Given the description of an element on the screen output the (x, y) to click on. 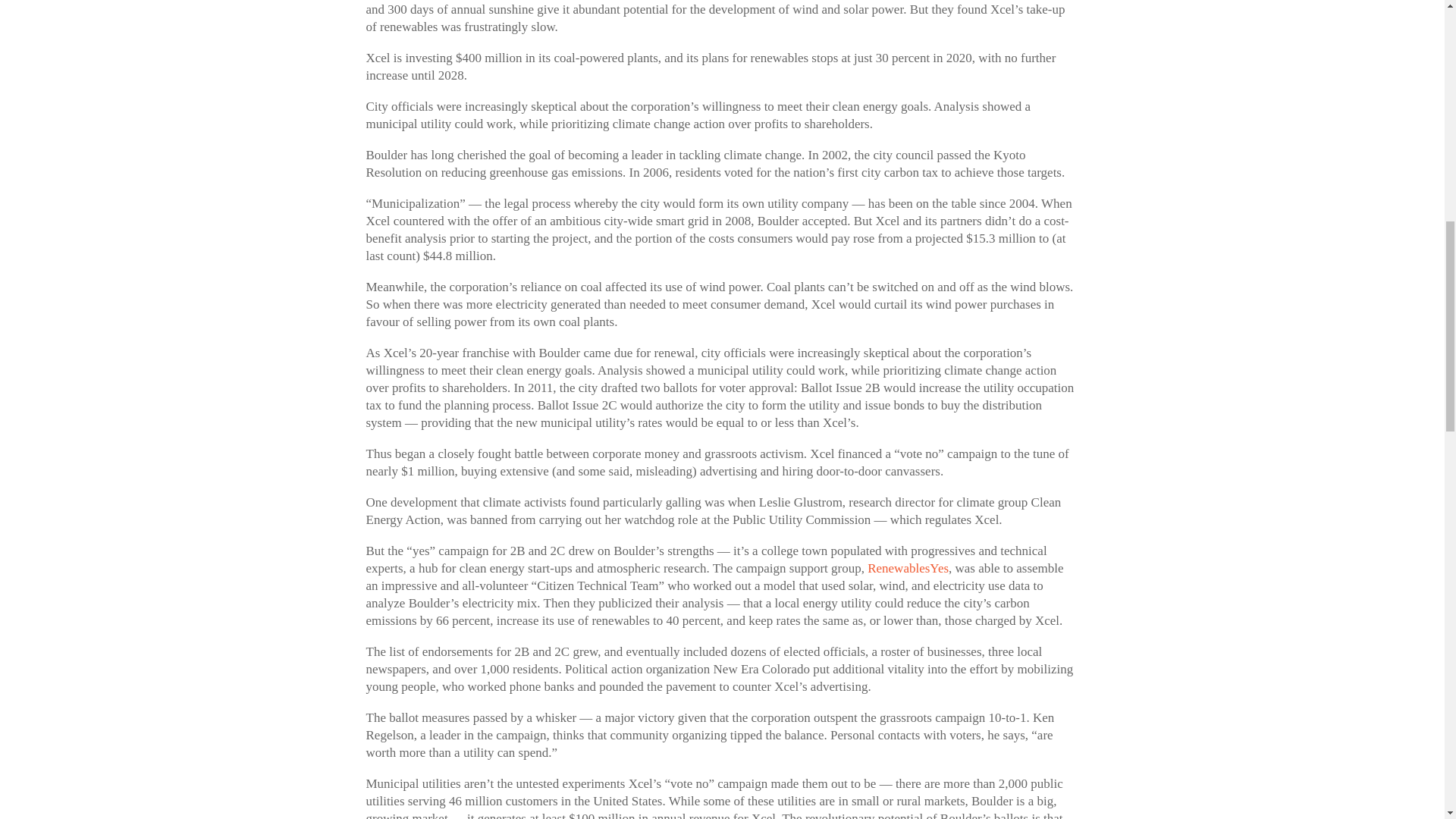
RenewablesYes (908, 568)
